Given the description of an element on the screen output the (x, y) to click on. 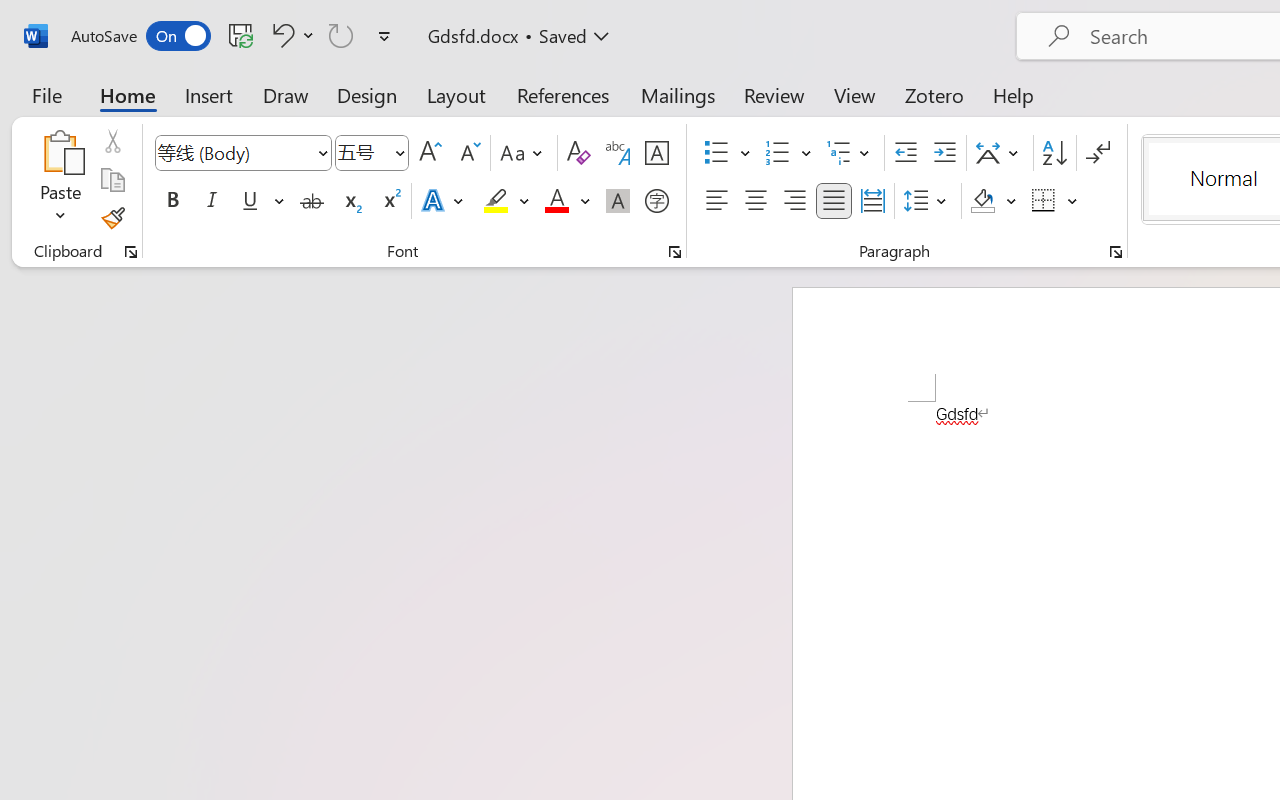
Undo Apply Quick Style (280, 35)
